Given the description of an element on the screen output the (x, y) to click on. 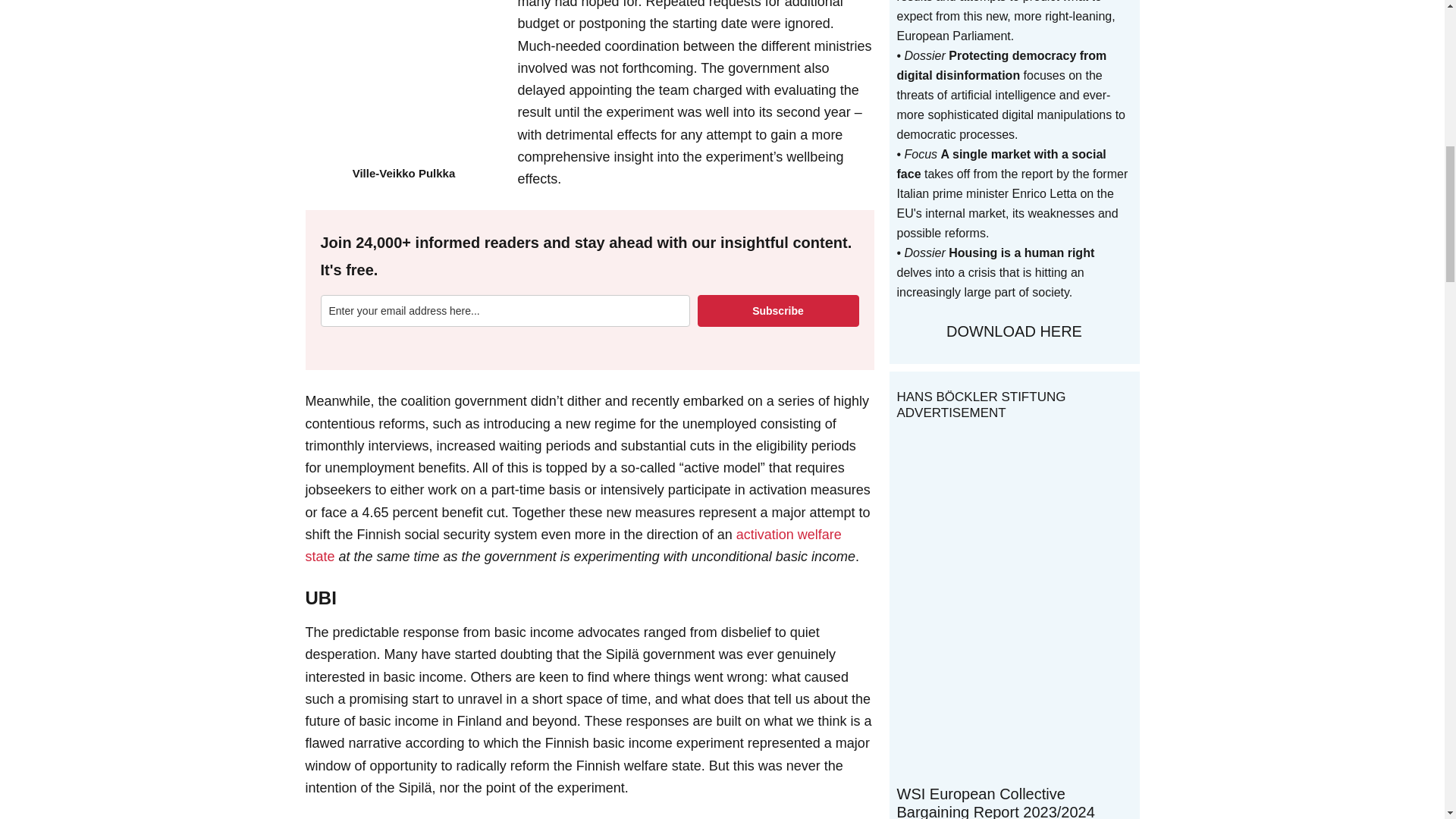
activation welfare state (572, 545)
Subscribe (778, 310)
